Given the description of an element on the screen output the (x, y) to click on. 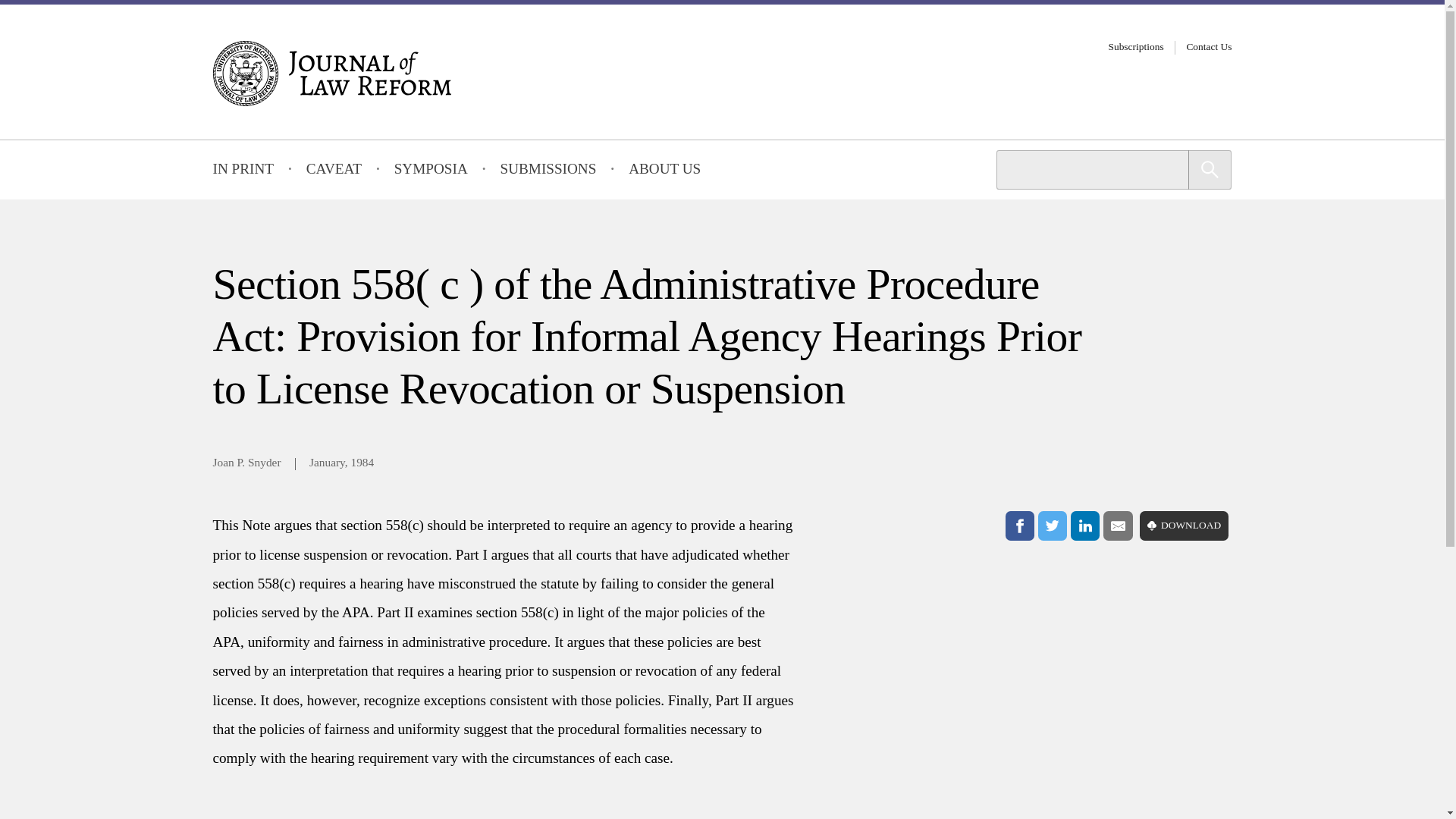
E-Mail (1117, 525)
Facebook (1019, 525)
Search (1209, 169)
SYMPOSIA (430, 169)
Twitter (1052, 525)
DOWNLOAD (1184, 525)
LinkedIn (1084, 525)
IN PRINT (242, 169)
CAVEAT (333, 169)
Search (1209, 169)
Subscriptions (1135, 46)
Contact Us (1208, 46)
ABOUT US (664, 169)
SUBMISSIONS (548, 169)
